Given the description of an element on the screen output the (x, y) to click on. 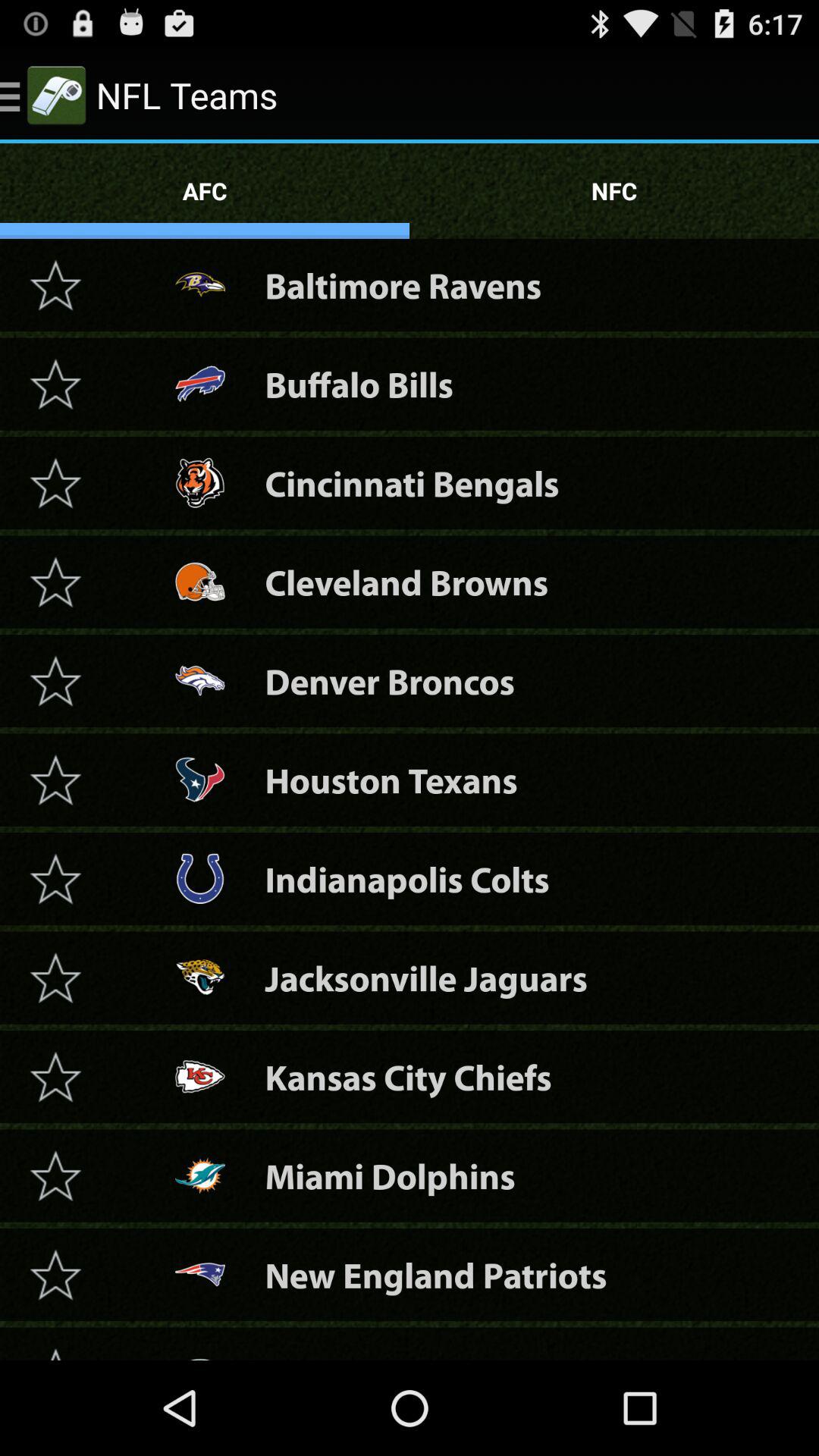
turn on item above kansas city chiefs icon (426, 977)
